Given the description of an element on the screen output the (x, y) to click on. 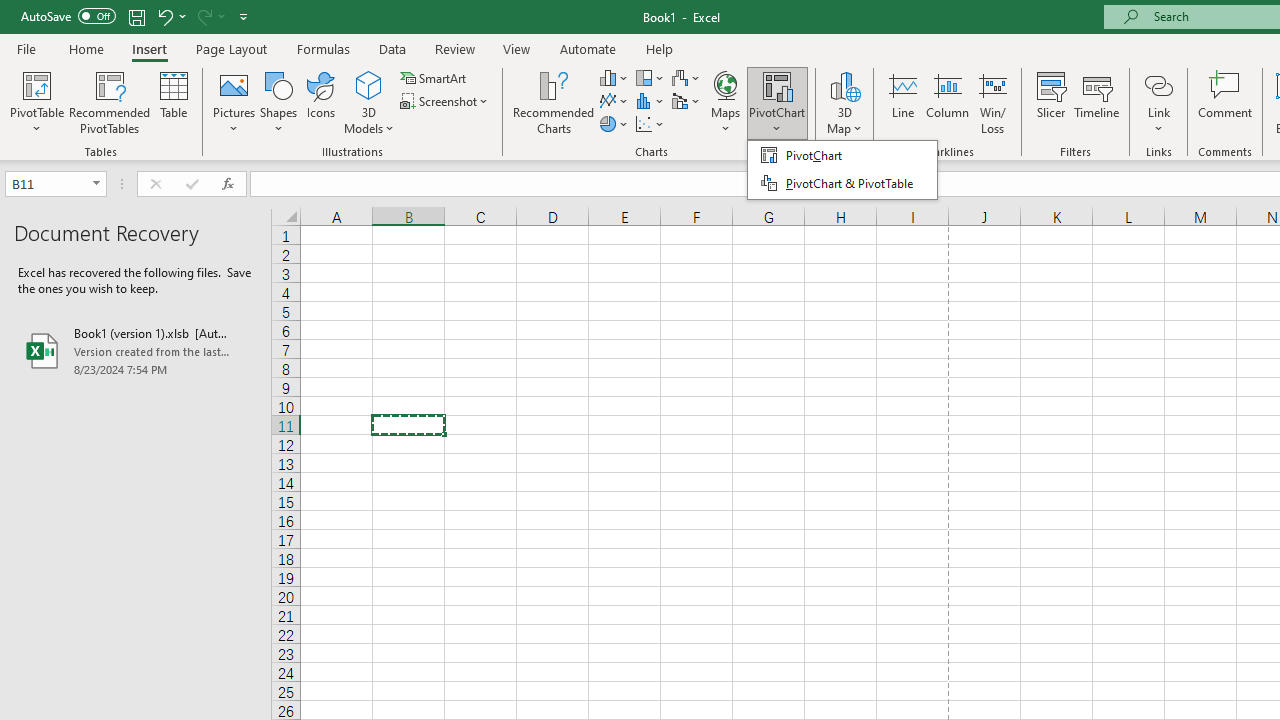
Recommended PivotTables (109, 102)
Data (392, 48)
Link (1158, 84)
Insert Hierarchy Chart (651, 78)
Table (173, 102)
Screenshot (445, 101)
3D Map (845, 84)
Pivot&Chart (842, 169)
Insert Combo Chart (687, 101)
Insert Statistic Chart (651, 101)
Save (136, 15)
Comment (1224, 102)
